Given the description of an element on the screen output the (x, y) to click on. 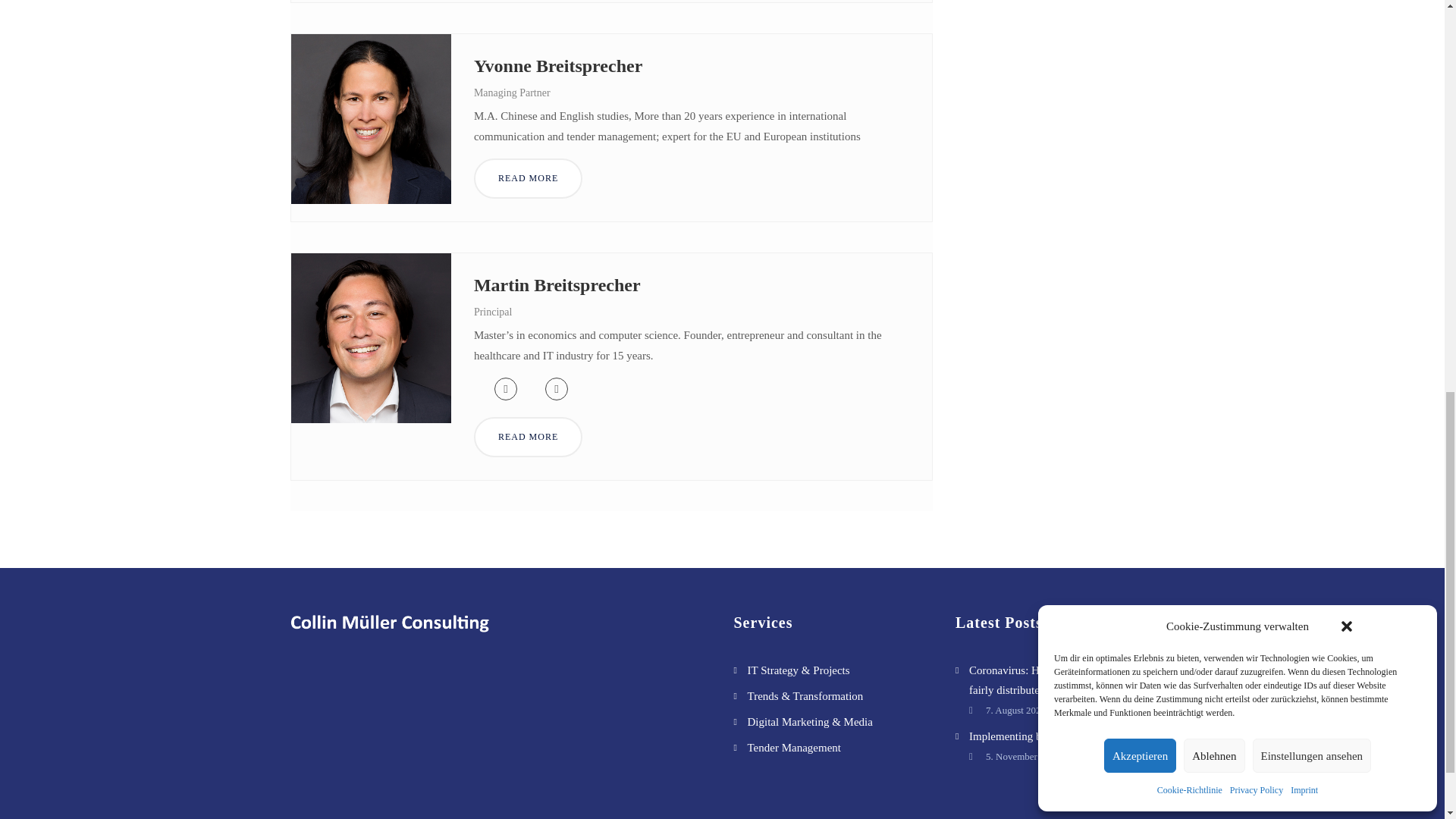
Yvonne Breitsprecher (558, 66)
READ MORE (528, 436)
READ MORE (528, 178)
Martin Breitsprecher (557, 284)
